Given the description of an element on the screen output the (x, y) to click on. 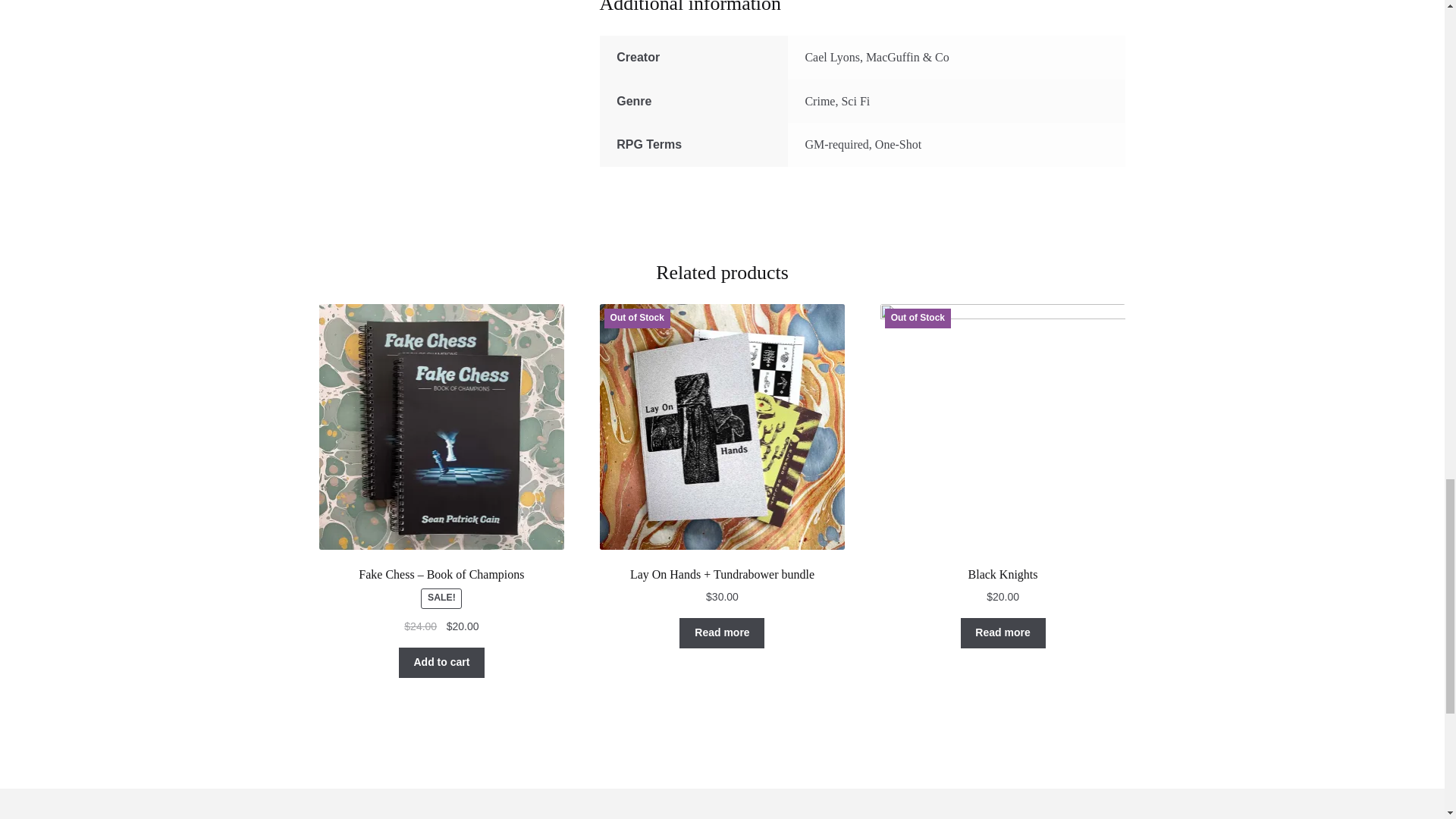
Read more (1002, 633)
Add to cart (441, 662)
Read more (721, 633)
